Given the description of an element on the screen output the (x, y) to click on. 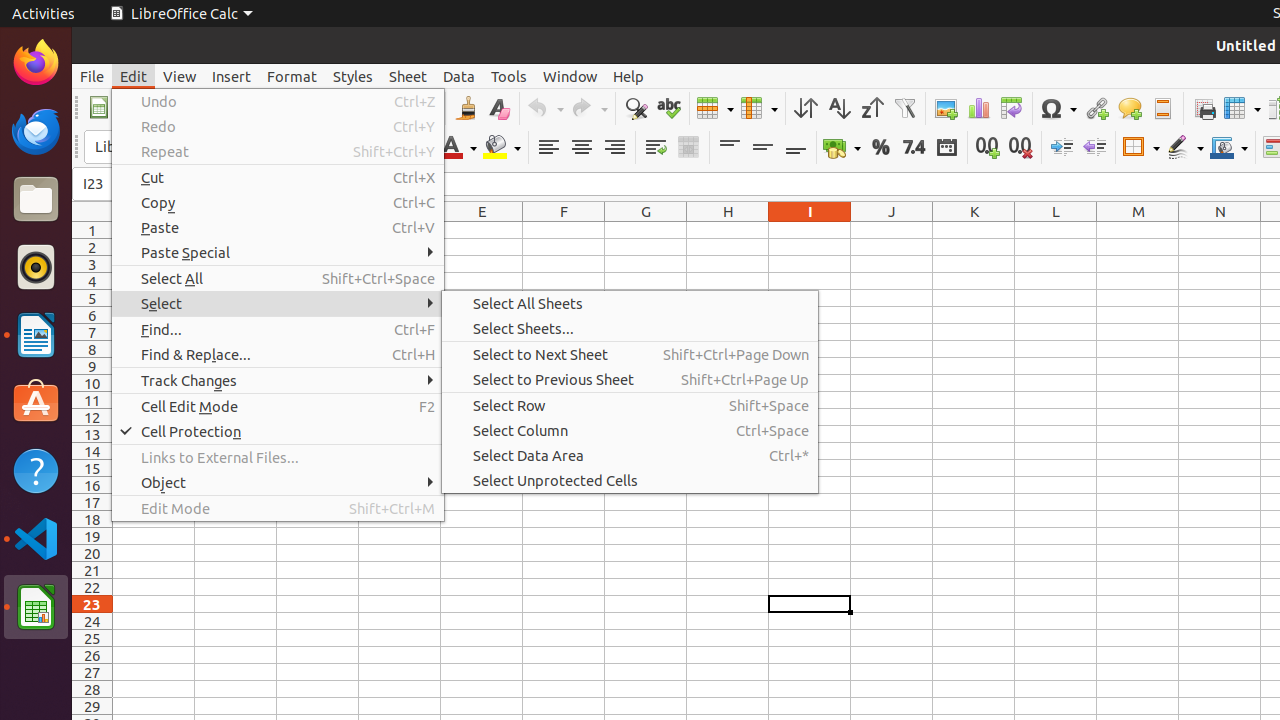
Borders (Shift to overwrite) Element type: push-button (1141, 147)
LibreOffice Calc Element type: menu (181, 13)
Symbol Element type: push-button (1058, 108)
Track Changes Element type: menu (278, 380)
Align Right Element type: push-button (614, 147)
